Given the description of an element on the screen output the (x, y) to click on. 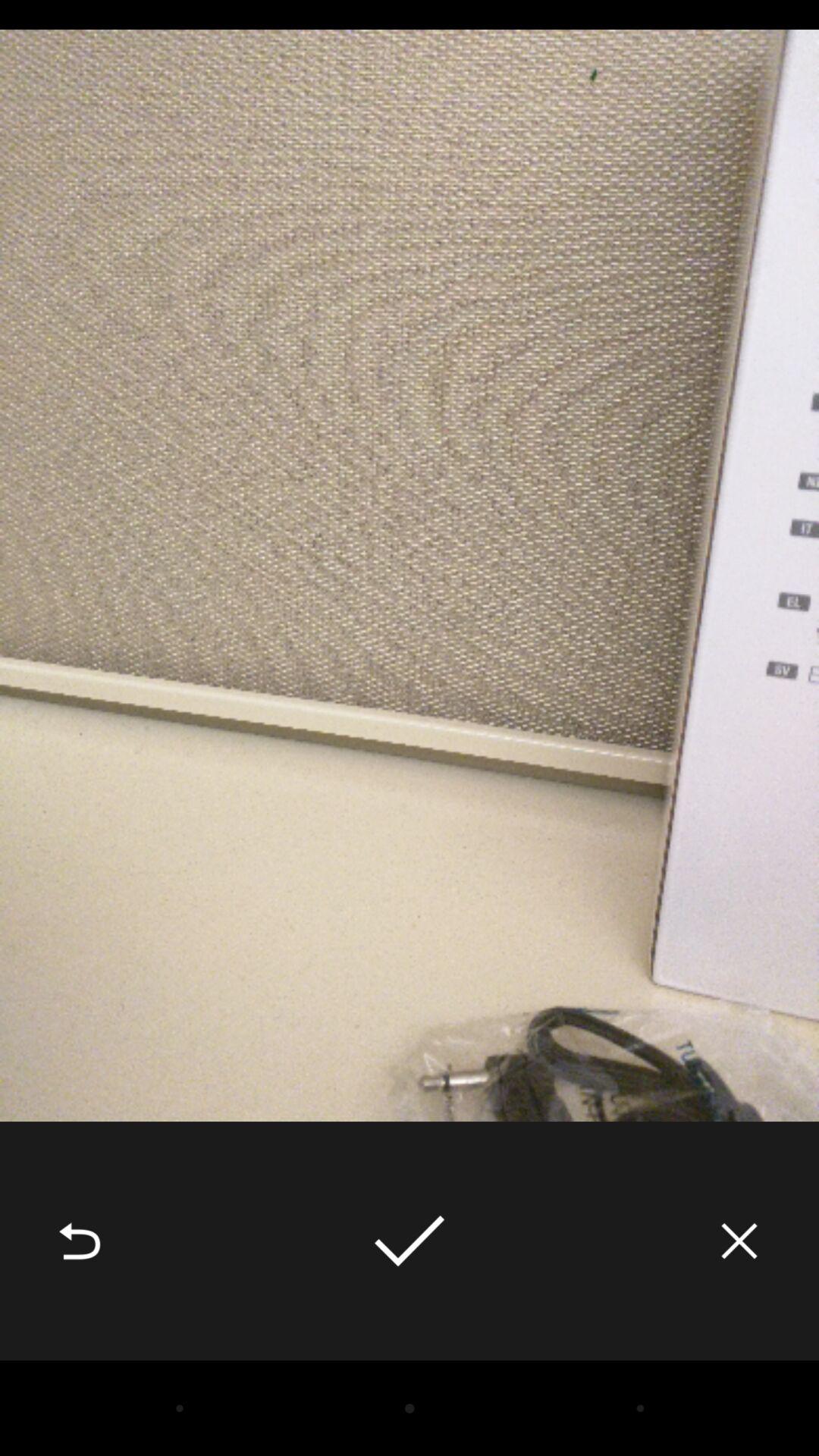
select the item at the bottom right corner (739, 1240)
